Given the description of an element on the screen output the (x, y) to click on. 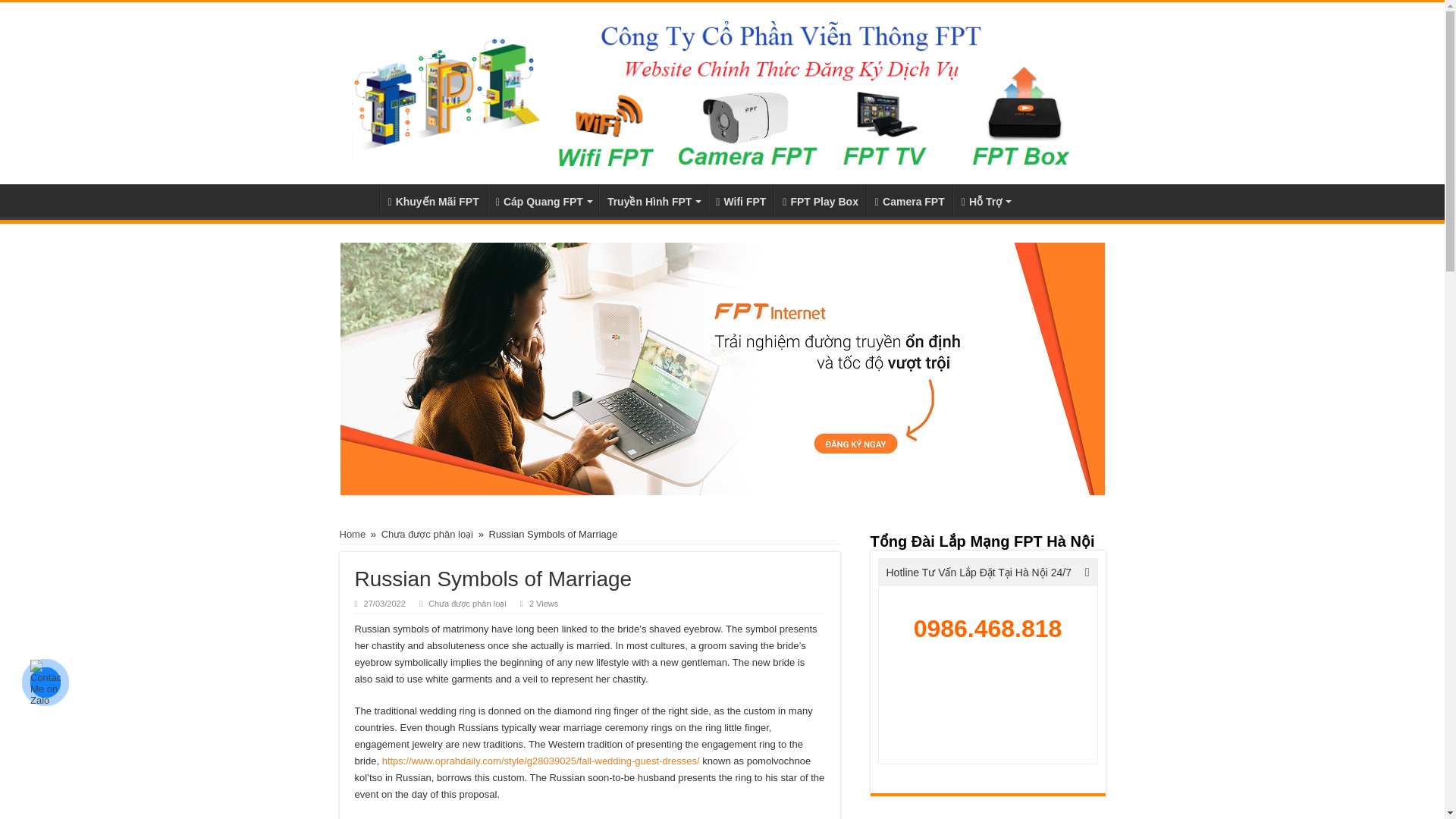
Home (352, 533)
Camera FPT (909, 200)
Wifi FPT (740, 200)
FPT Play Box (820, 200)
